Given the description of an element on the screen output the (x, y) to click on. 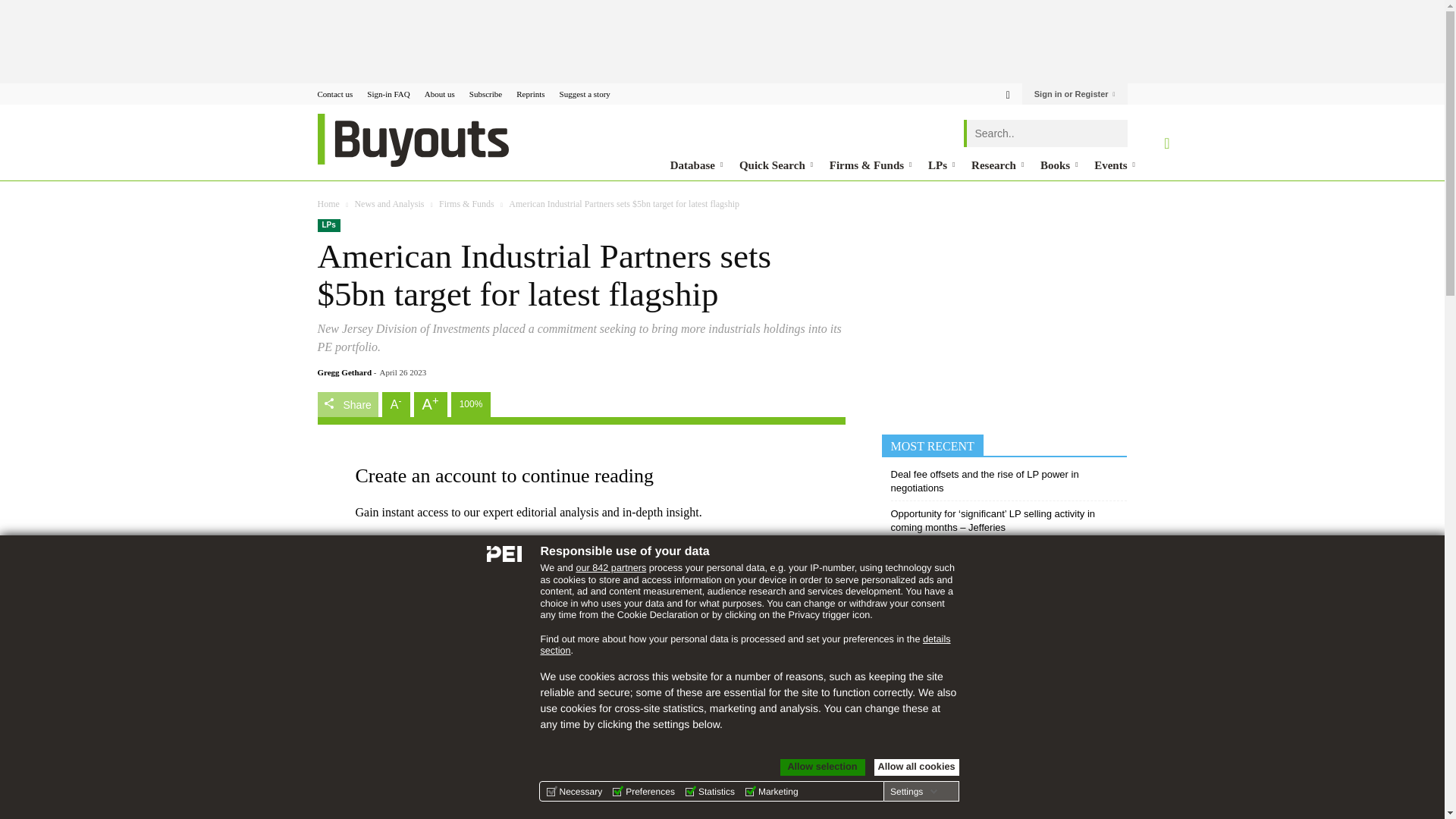
our 842 partners (610, 567)
Allow all cookies (915, 767)
details section (745, 644)
Allow selection (821, 767)
Settings (913, 791)
